Given the description of an element on the screen output the (x, y) to click on. 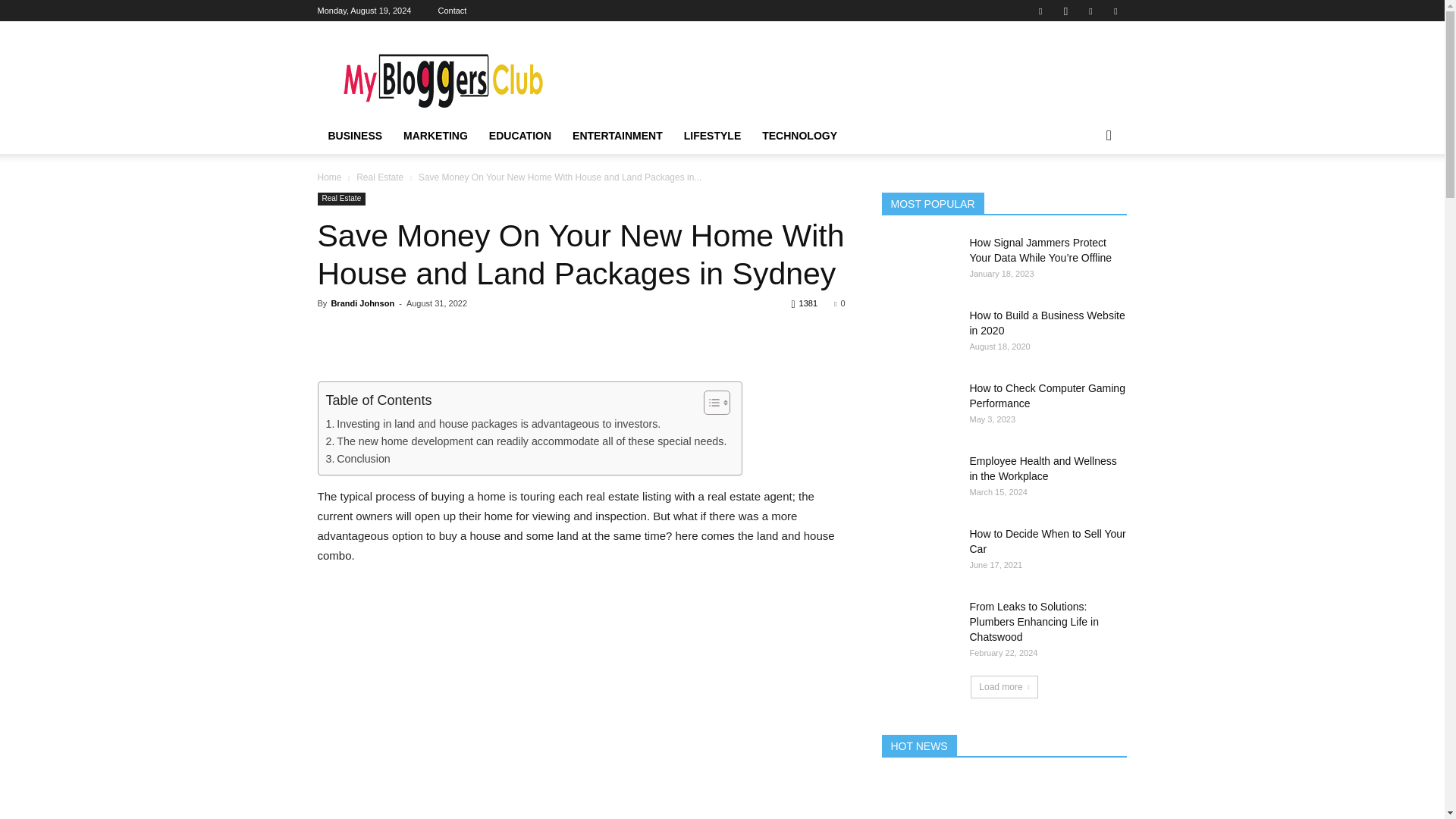
MyBloggerClub.com Logo (445, 76)
Conclusion (358, 458)
View all posts in Real Estate (379, 176)
Pinterest (1090, 10)
Facebook (1040, 10)
Instagram (1065, 10)
Twitter (1114, 10)
